Given the description of an element on the screen output the (x, y) to click on. 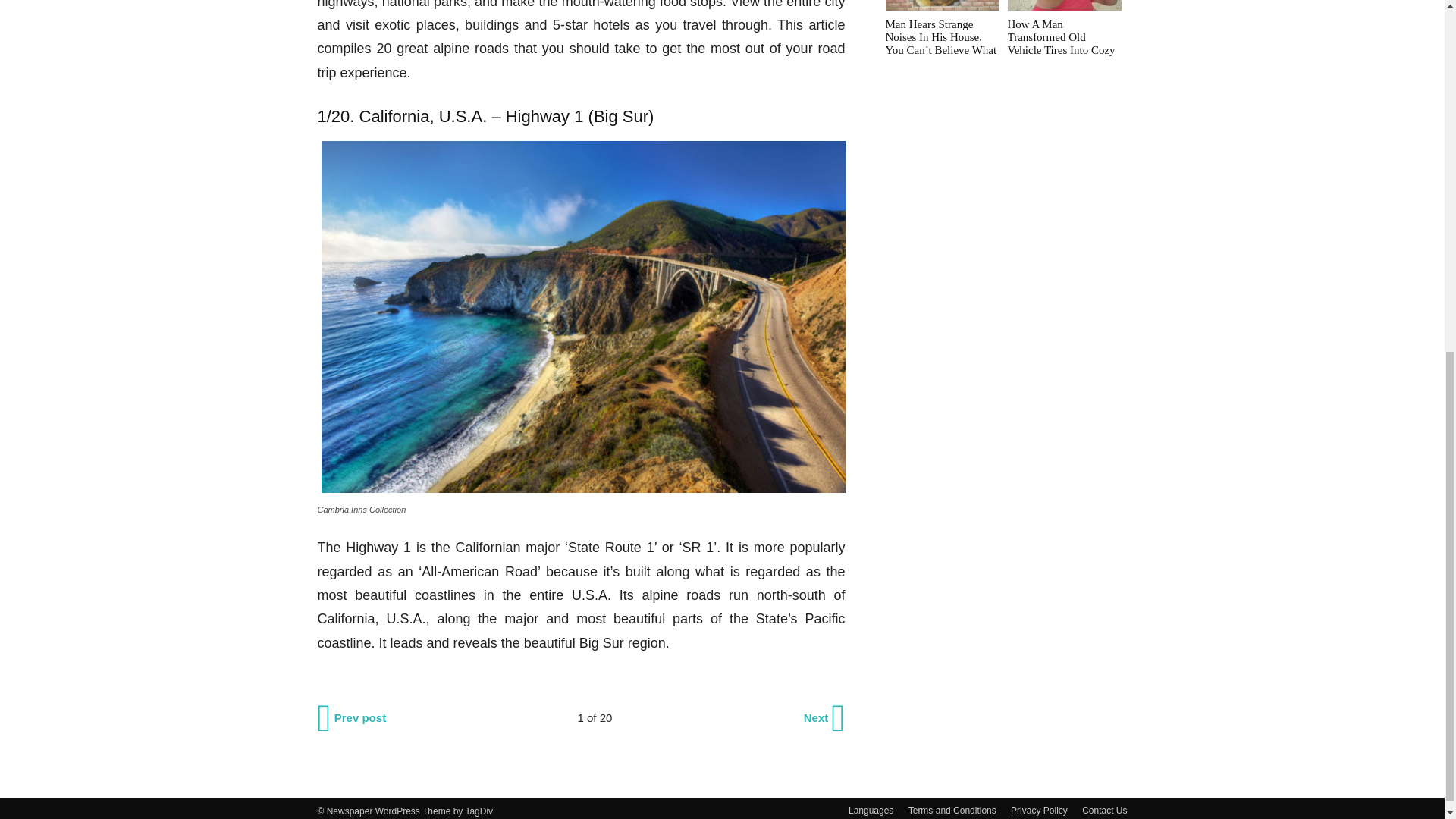
Advertisement (1003, 189)
Terms and Conditions (951, 810)
Privacy Policy (1038, 810)
Languages (870, 810)
Prev post (352, 718)
Next (822, 718)
